Given the description of an element on the screen output the (x, y) to click on. 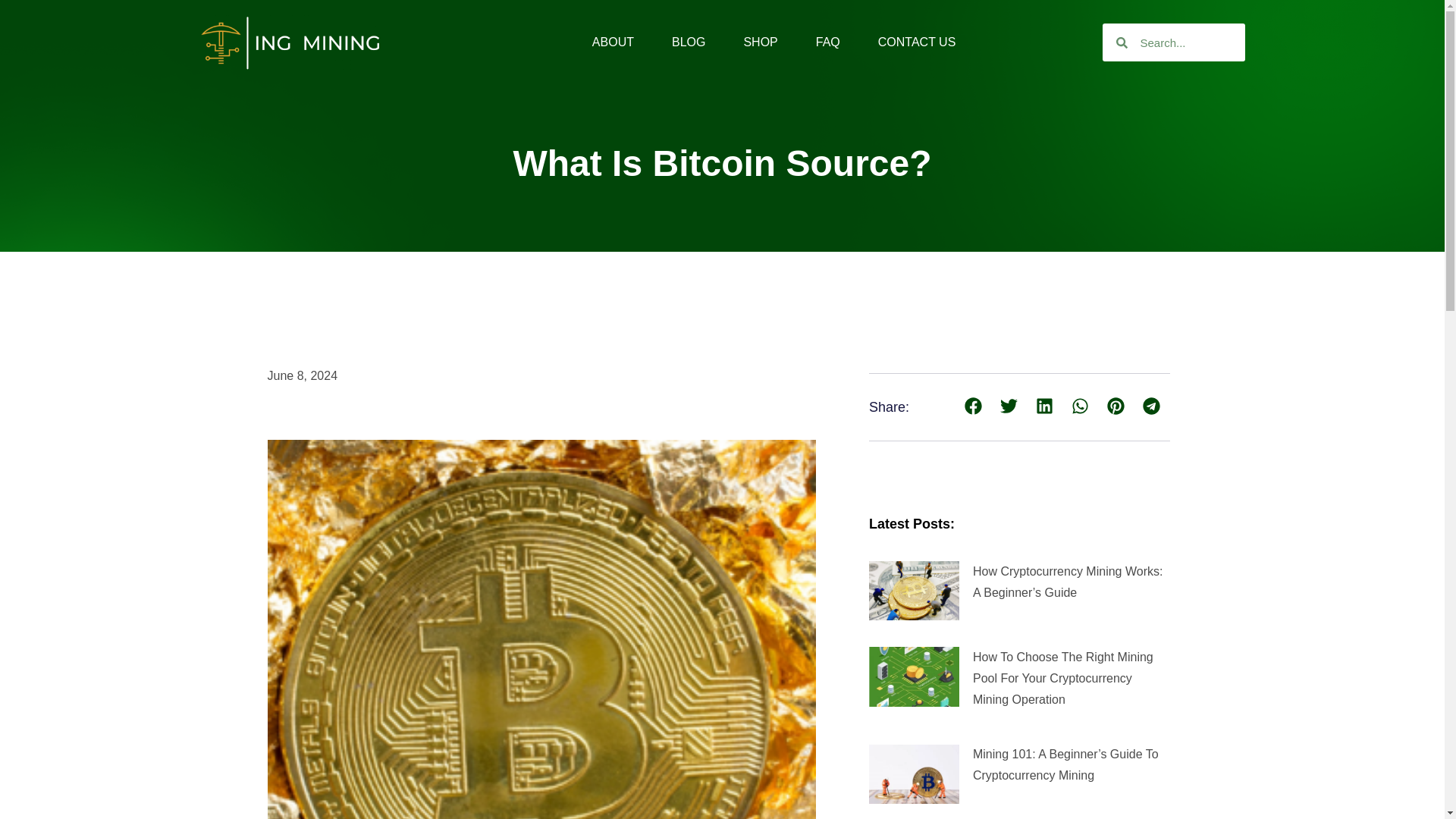
June 8, 2024 (301, 375)
ABOUT (612, 42)
FAQ (827, 42)
SHOP (759, 42)
BLOG (687, 42)
CONTACT US (916, 42)
